Given the description of an element on the screen output the (x, y) to click on. 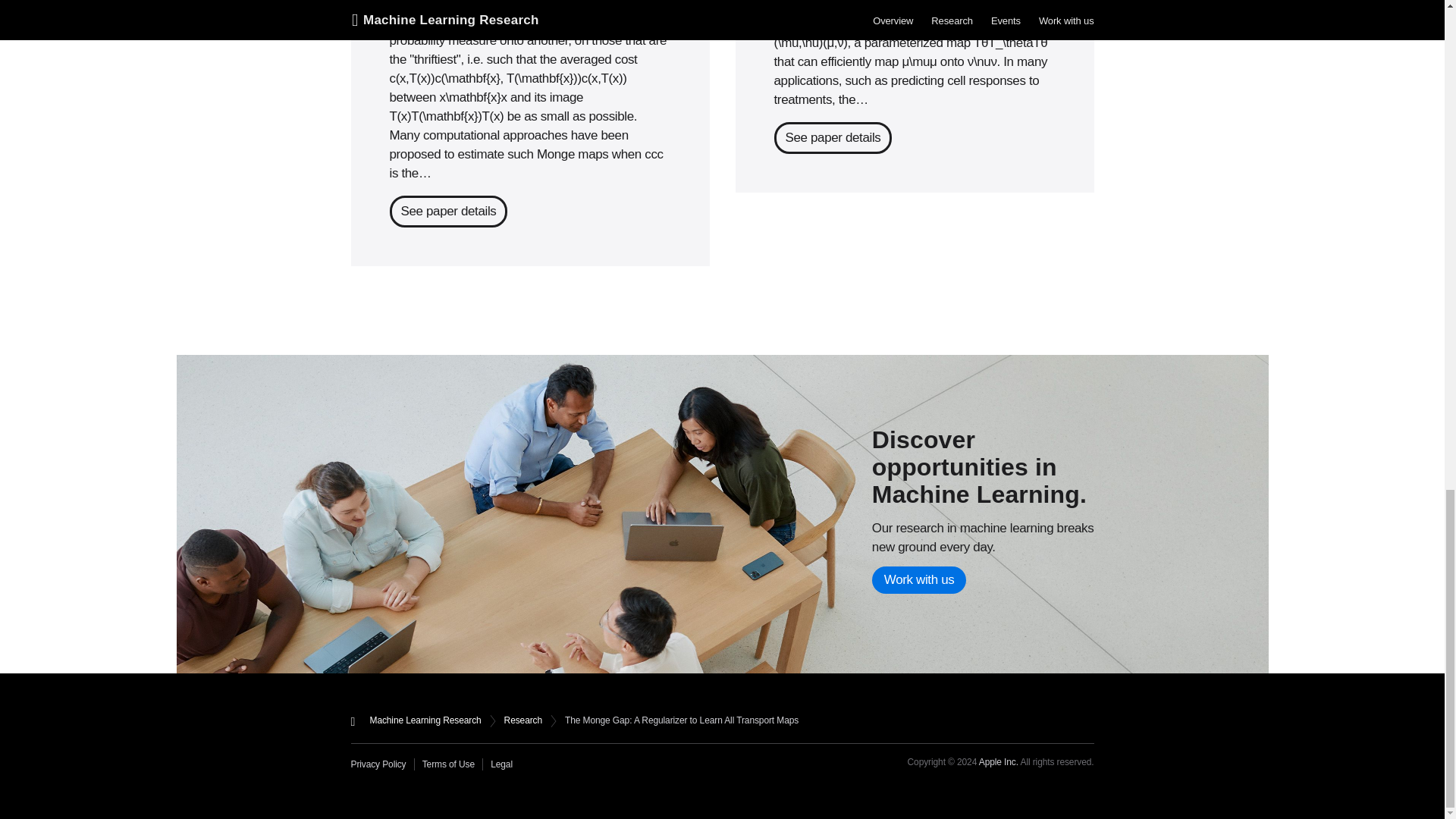
Work with us (919, 579)
Legal (501, 764)
Apple Inc. (997, 761)
Research (522, 719)
Privacy Policy (381, 764)
Terms of Use (452, 764)
See paper details (449, 211)
Machine Learning Research (425, 719)
See paper details (832, 137)
